Given the description of an element on the screen output the (x, y) to click on. 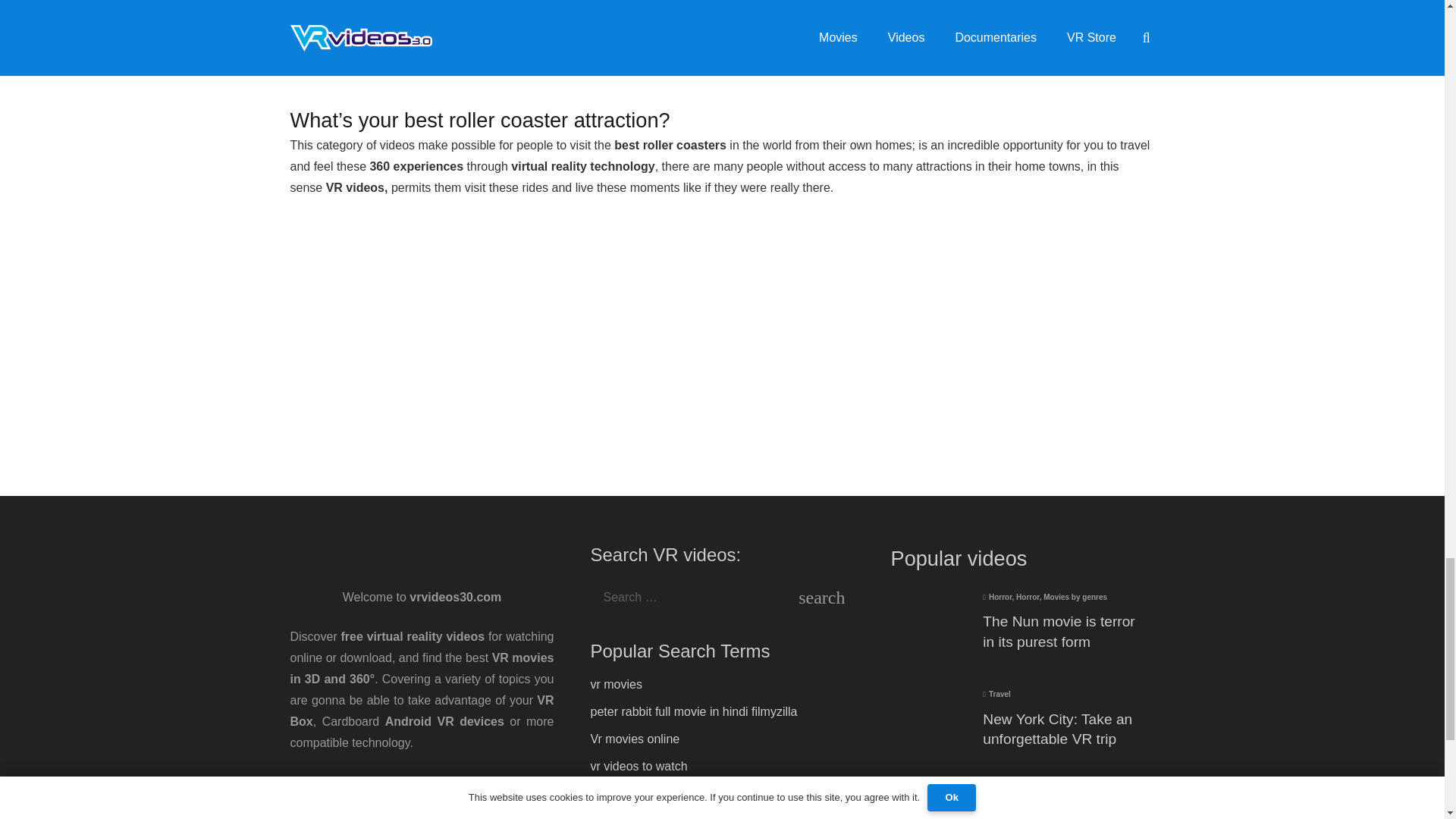
vr movie (611, 793)
peter rabbit full movie in hindi filmyzilla (692, 711)
vr movies (615, 684)
vr movie (611, 793)
peter rabbit full movie in hindi filmyzilla (692, 711)
Legal advice (338, 781)
vr videos to watch (638, 766)
Cookies (455, 781)
peter rabbit movie in hindi download (686, 816)
Privacy (402, 781)
vr movies (615, 684)
Contact (421, 802)
Vr movies online (634, 738)
Search (832, 596)
